Given the description of an element on the screen output the (x, y) to click on. 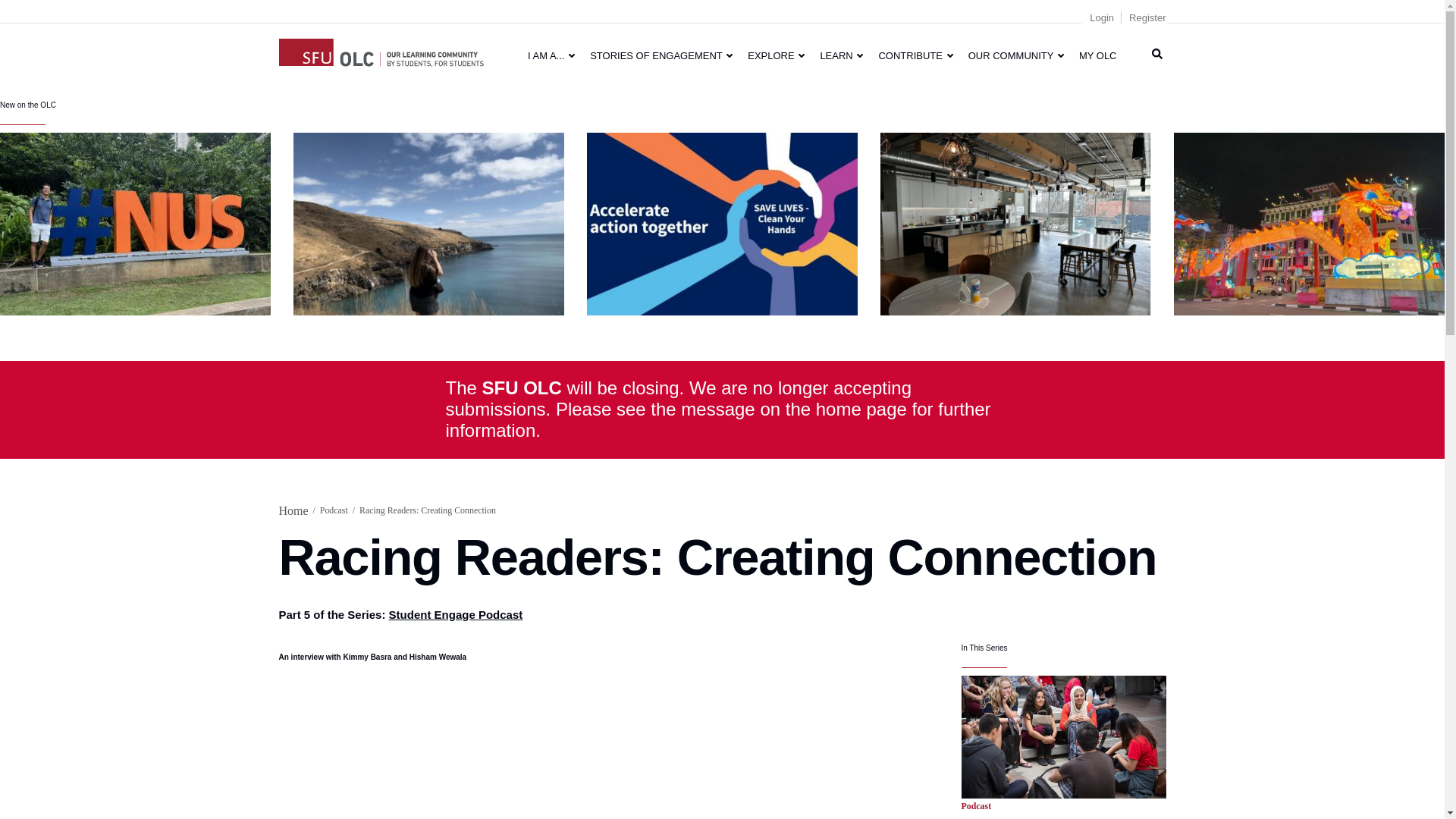
OUR COMMUNITY (1015, 55)
Login (1101, 17)
STORIES OF ENGAGEMENT (660, 55)
Chinatown (1308, 223)
Home (381, 50)
CONTRIBUTE (914, 55)
LEARN (841, 55)
Godley Head Hike (429, 223)
I AM A... (550, 55)
NUS sign in Utown (135, 223)
Register (1147, 17)
EXPLORE (775, 55)
